Given the description of an element on the screen output the (x, y) to click on. 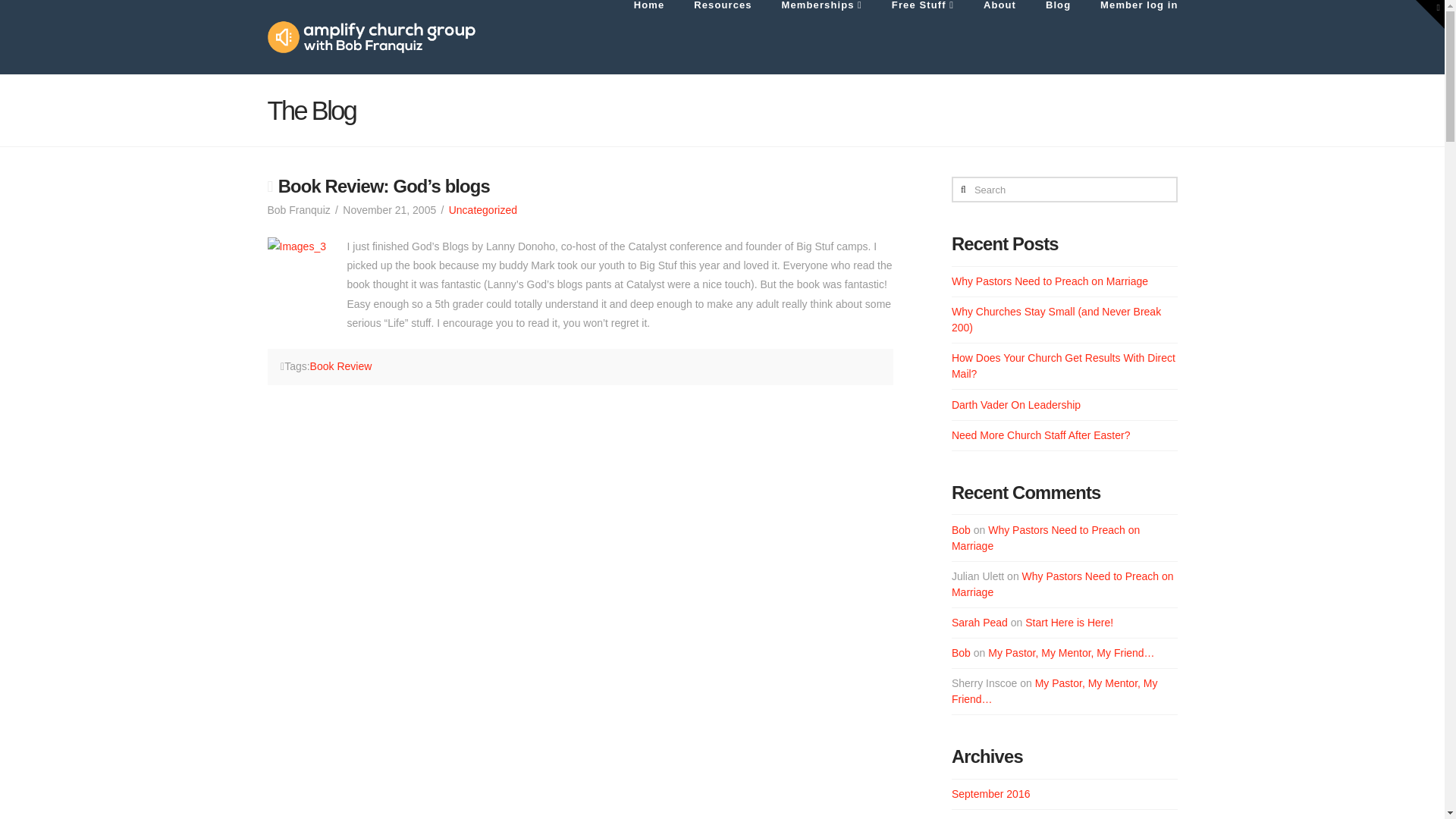
Why Pastors Need to Preach on Marriage (1062, 584)
How Does Your Church Get Results With Direct Mail? (1063, 366)
Memberships (821, 37)
Why Pastors Need to Preach on Marriage (1046, 538)
Bob (961, 653)
Member log in (1130, 37)
Sarah Pead (979, 622)
Book Review (341, 366)
Bob (961, 530)
September 2016 (991, 793)
